Given the description of an element on the screen output the (x, y) to click on. 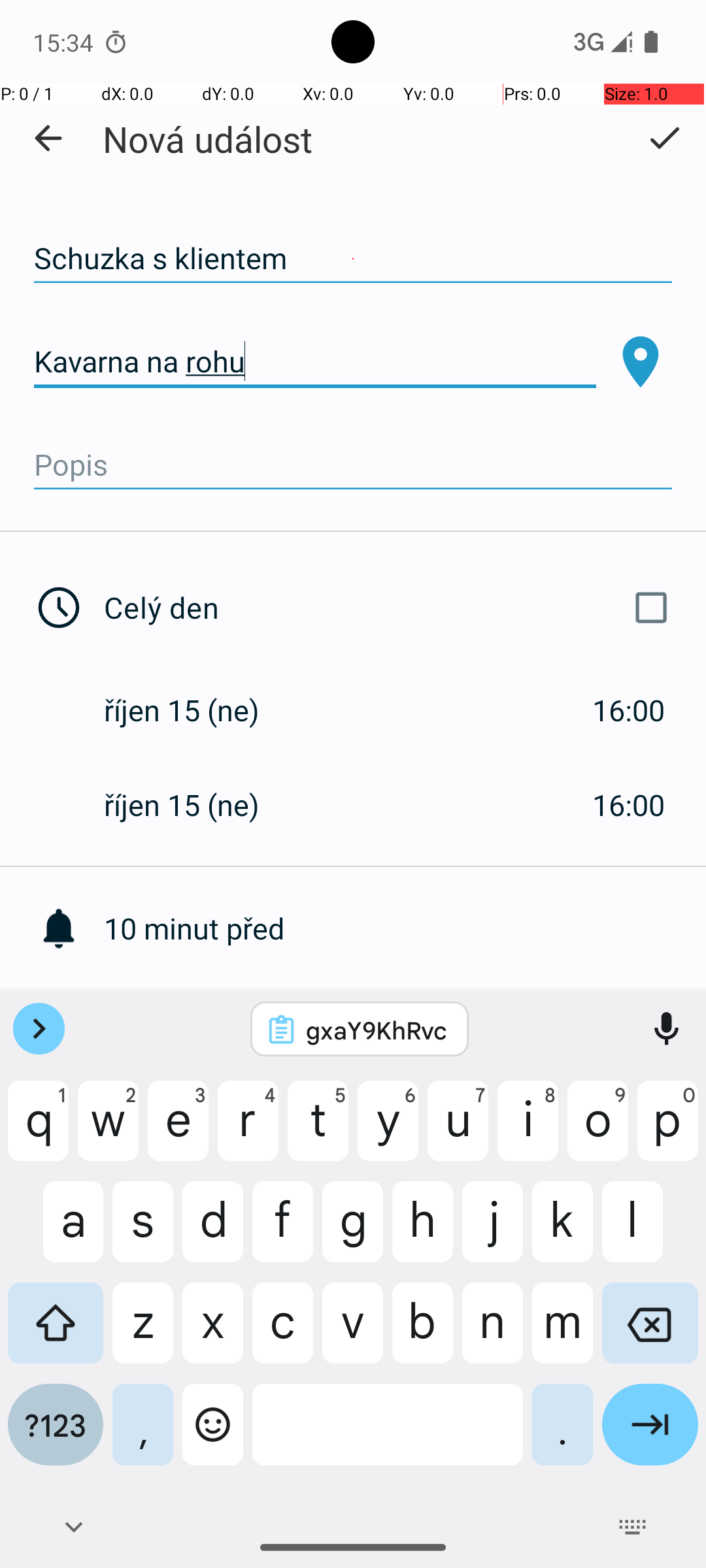
Uložit Element type: android.widget.Button (664, 137)
Schuzka s klientem Element type: android.widget.EditText (352, 258)
Kavarna na rohu Element type: android.widget.EditText (314, 361)
Popis Element type: android.widget.EditText (352, 465)
říjen 15 (ne) Element type: android.widget.TextView (194, 709)
10 minut před Element type: android.widget.TextView (404, 927)
Přidat další připomínku Element type: android.widget.TextView (404, 1022)
Celý den Element type: android.widget.CheckBox (390, 607)
gxaY9KhRvc Element type: android.widget.TextView (376, 1029)
